Given the description of an element on the screen output the (x, y) to click on. 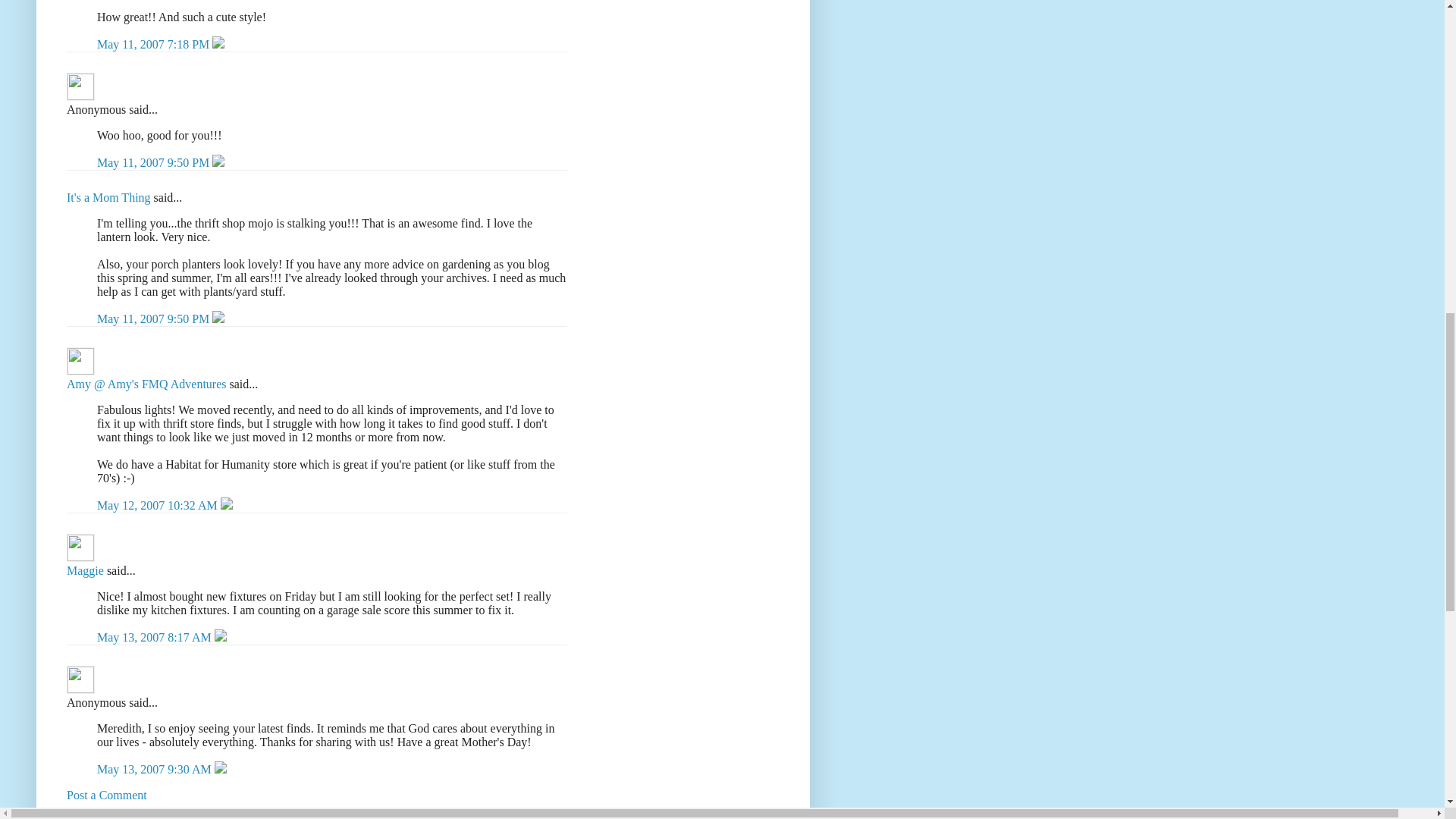
May 11, 2007 7:18 PM (154, 43)
comment permalink (154, 43)
comment permalink (154, 318)
It's a Mom Thing (108, 196)
Delete Comment (218, 43)
comment permalink (154, 162)
May 12, 2007 10:32 AM (159, 504)
May 11, 2007 9:50 PM (154, 162)
Delete Comment (218, 162)
Anonymous (80, 86)
Maggie (84, 570)
May 11, 2007 9:50 PM (154, 318)
Delete Comment (218, 318)
